Given the description of an element on the screen output the (x, y) to click on. 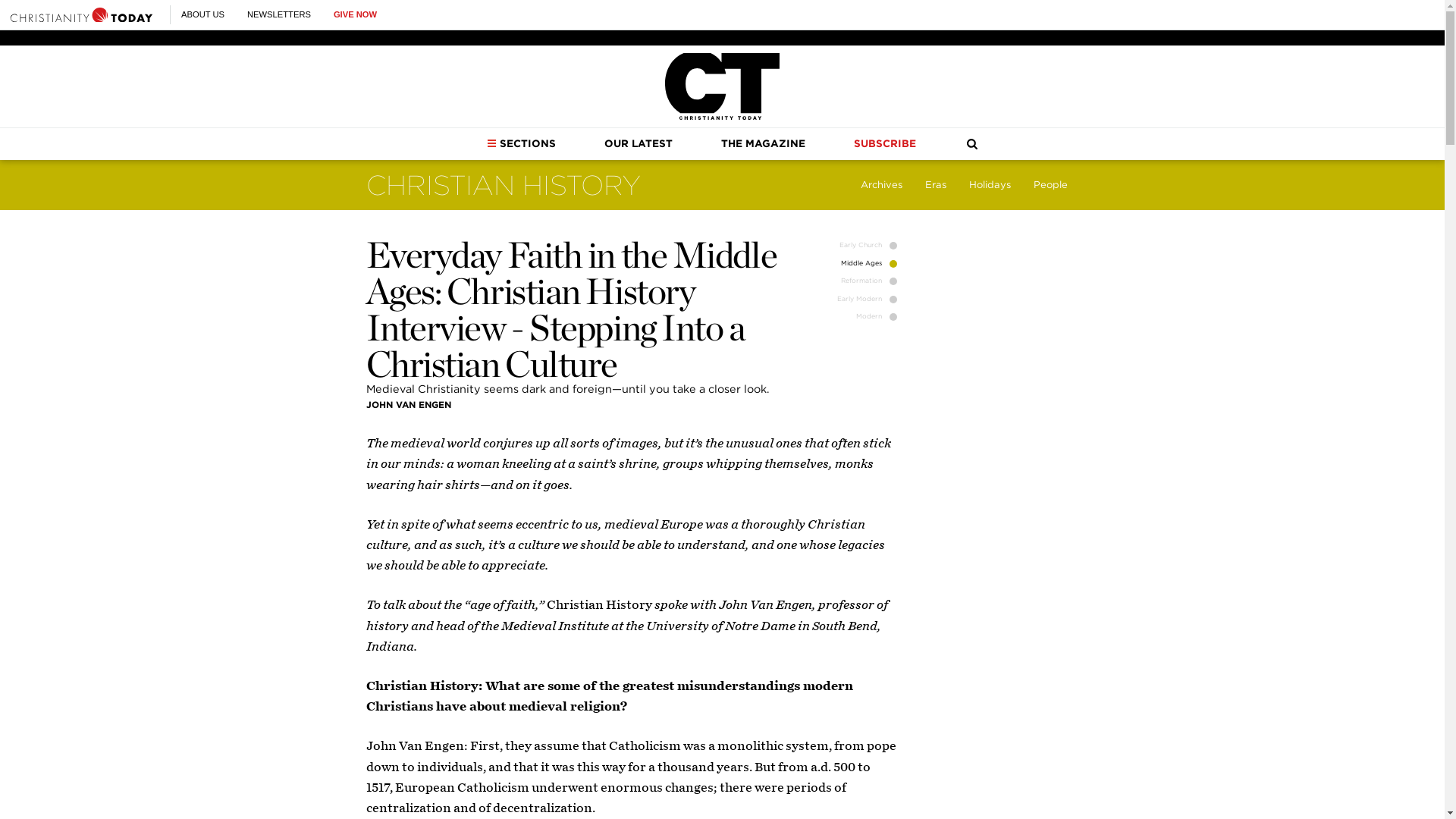
ABOUT US (202, 14)
Christianity Today (81, 14)
Christianity Today (721, 86)
GIVE NOW (355, 14)
NEWSLETTERS (278, 14)
Sections Dropdown (491, 143)
SECTIONS (521, 143)
